Given the description of an element on the screen output the (x, y) to click on. 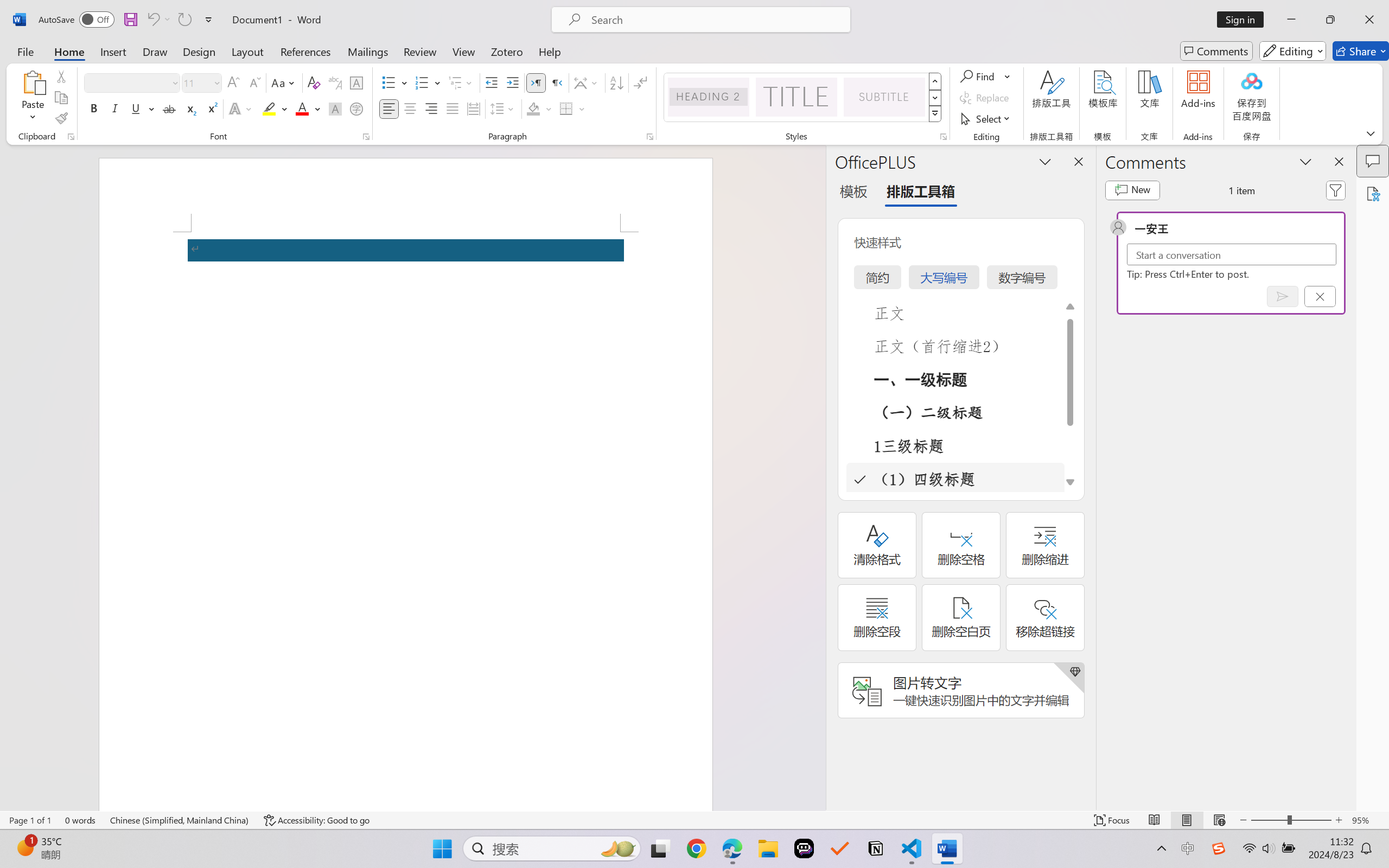
Undo Apply Quick Style Set (152, 19)
